Given the description of an element on the screen output the (x, y) to click on. 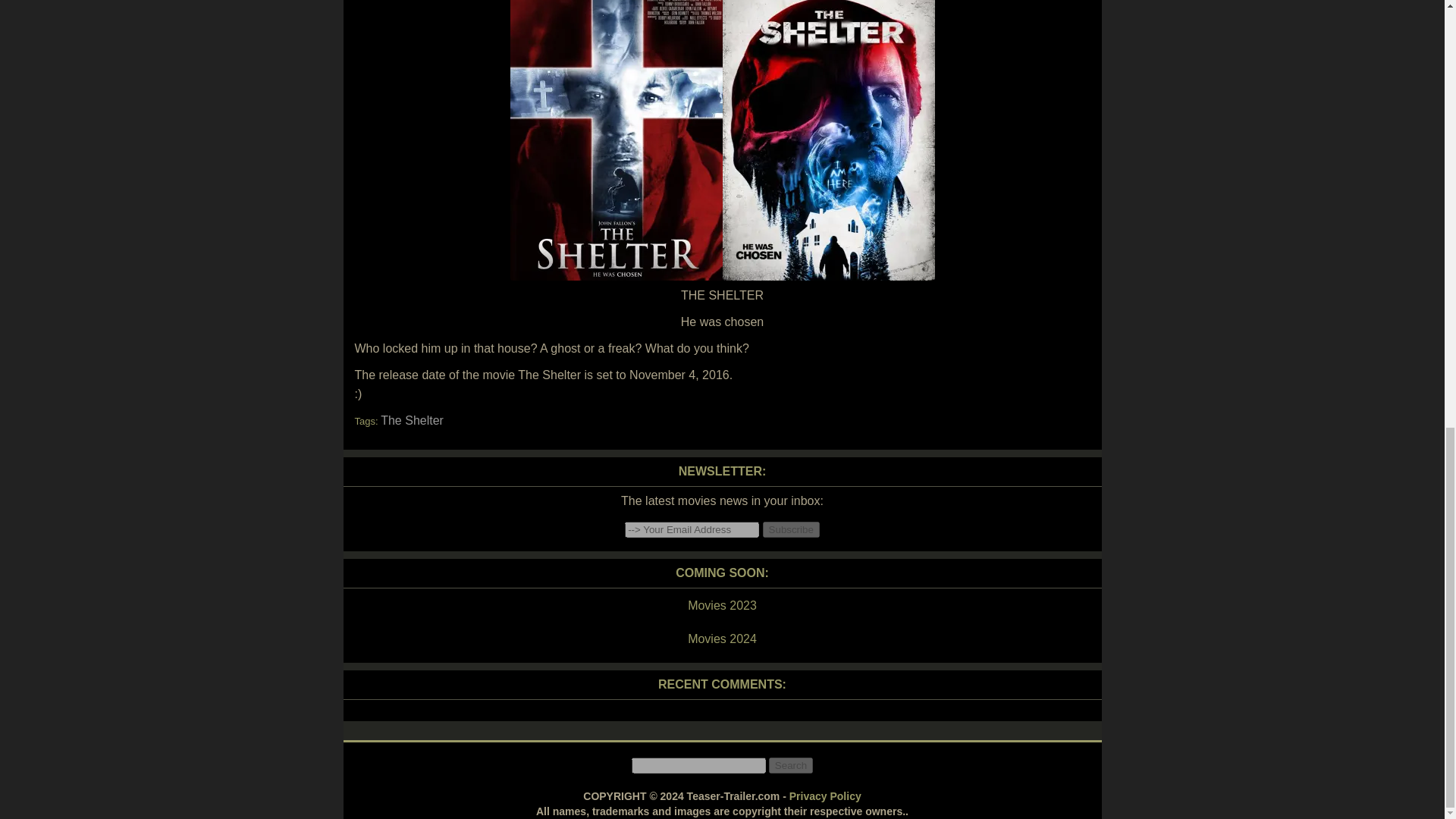
Subscribe (790, 529)
The Shelter (412, 420)
Subscribe (790, 529)
Movies 2024 (721, 639)
Search (790, 765)
Search (790, 765)
Privacy Policy (825, 796)
Movies 2023 (721, 605)
